Given the description of an element on the screen output the (x, y) to click on. 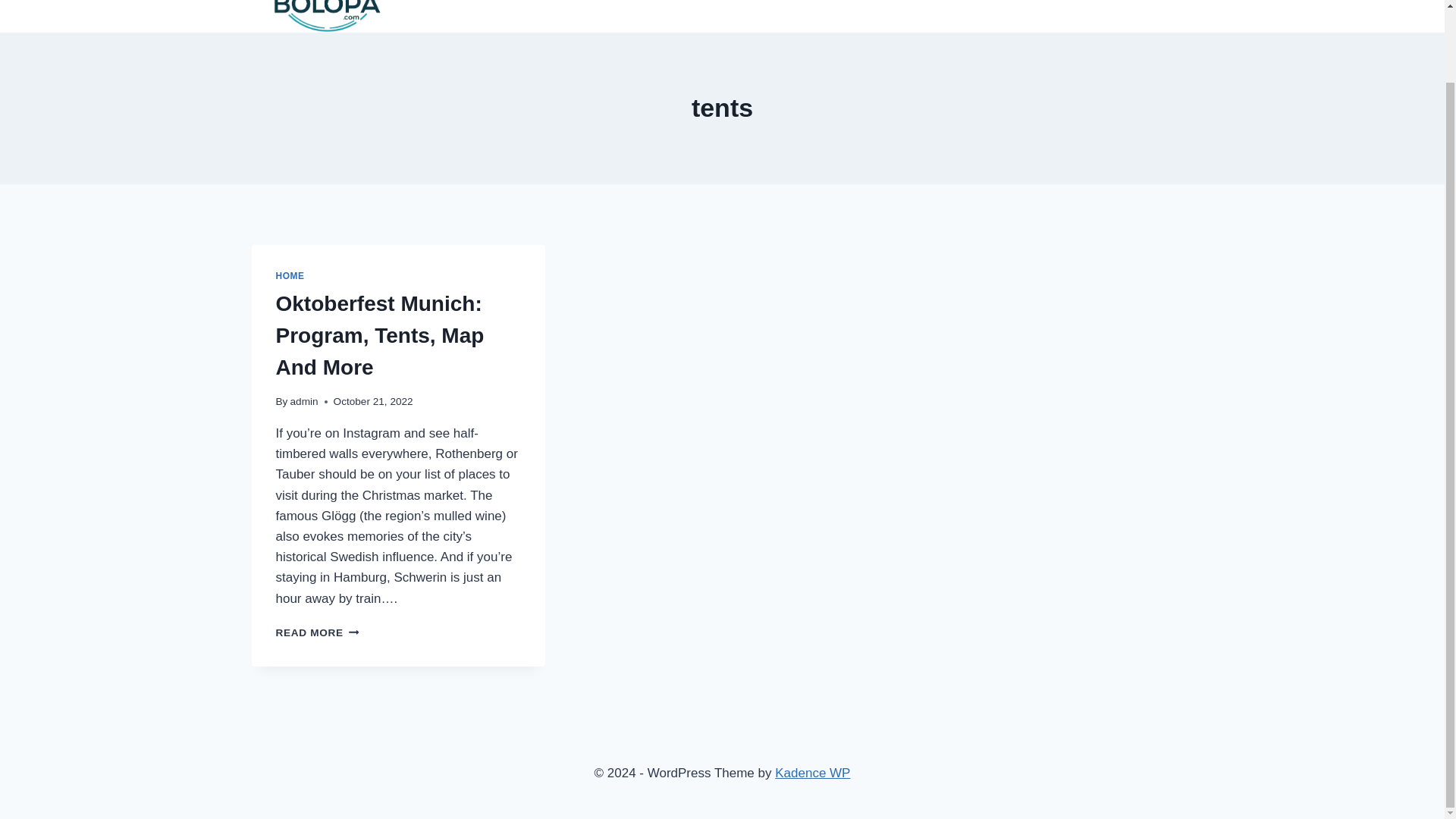
Oktoberfest Munich: Program, Tents, Map And More (380, 335)
Kadence WP (812, 772)
admin (303, 401)
HOME (317, 632)
